Given the description of an element on the screen output the (x, y) to click on. 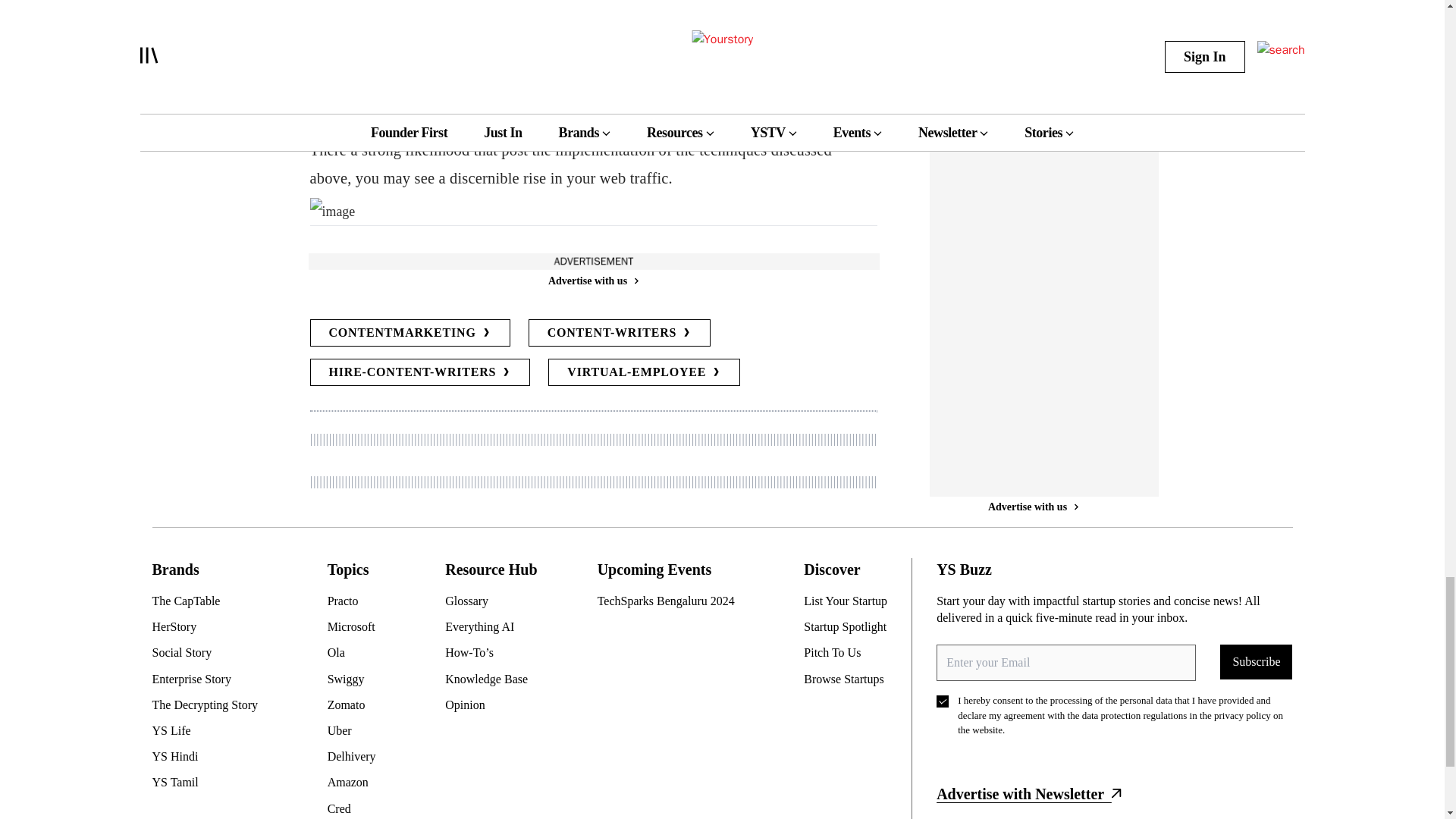
VIRTUAL-EMPLOYEE (643, 371)
HerStory (210, 627)
The CapTable (210, 600)
CONTENTMARKETING (408, 332)
Advertise with us (592, 280)
Social Story (210, 652)
CONTENT-WRITERS (619, 332)
HIRE-CONTENT-WRITERS (418, 371)
